Given the description of an element on the screen output the (x, y) to click on. 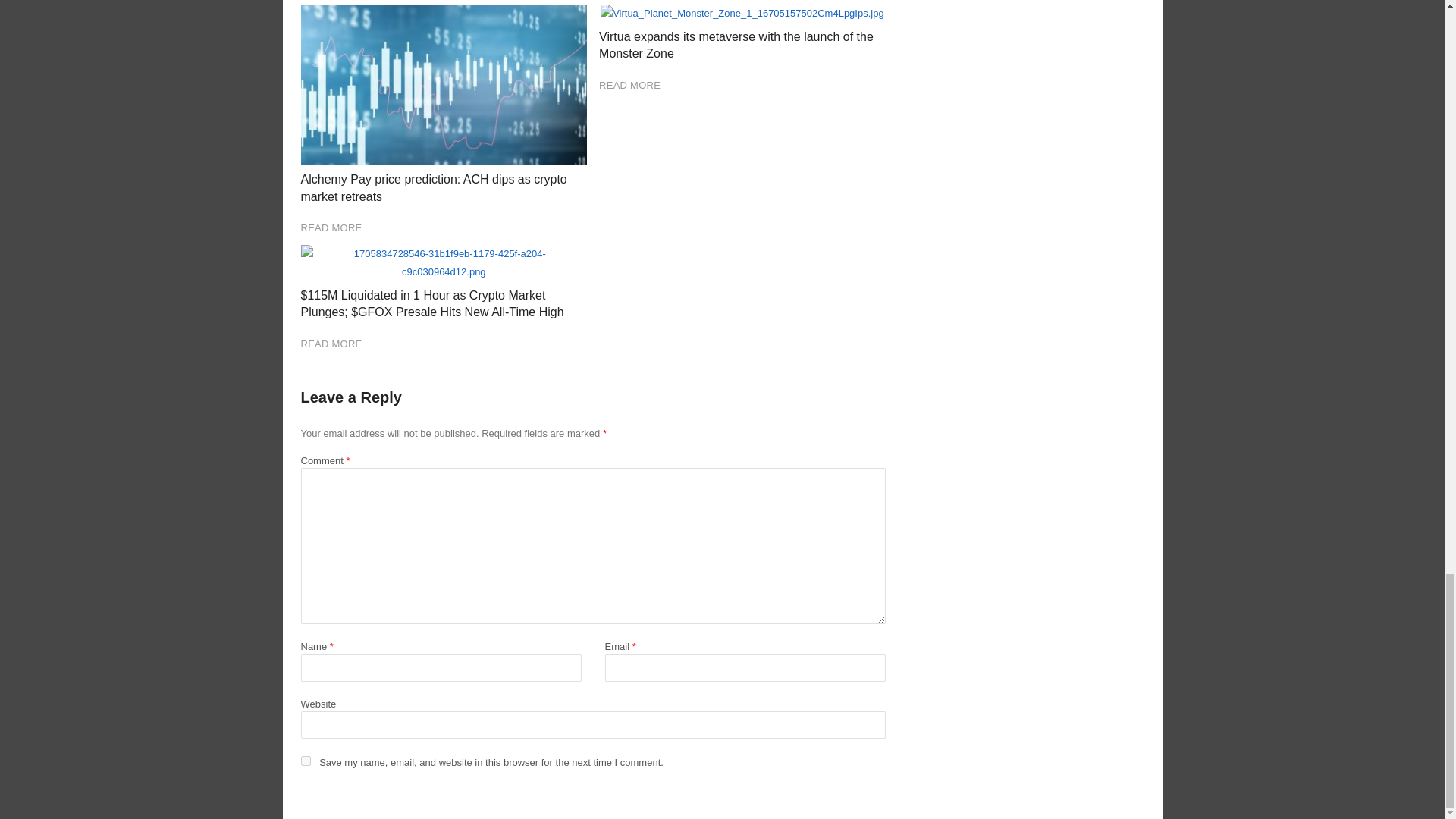
yes (304, 760)
